Given the description of an element on the screen output the (x, y) to click on. 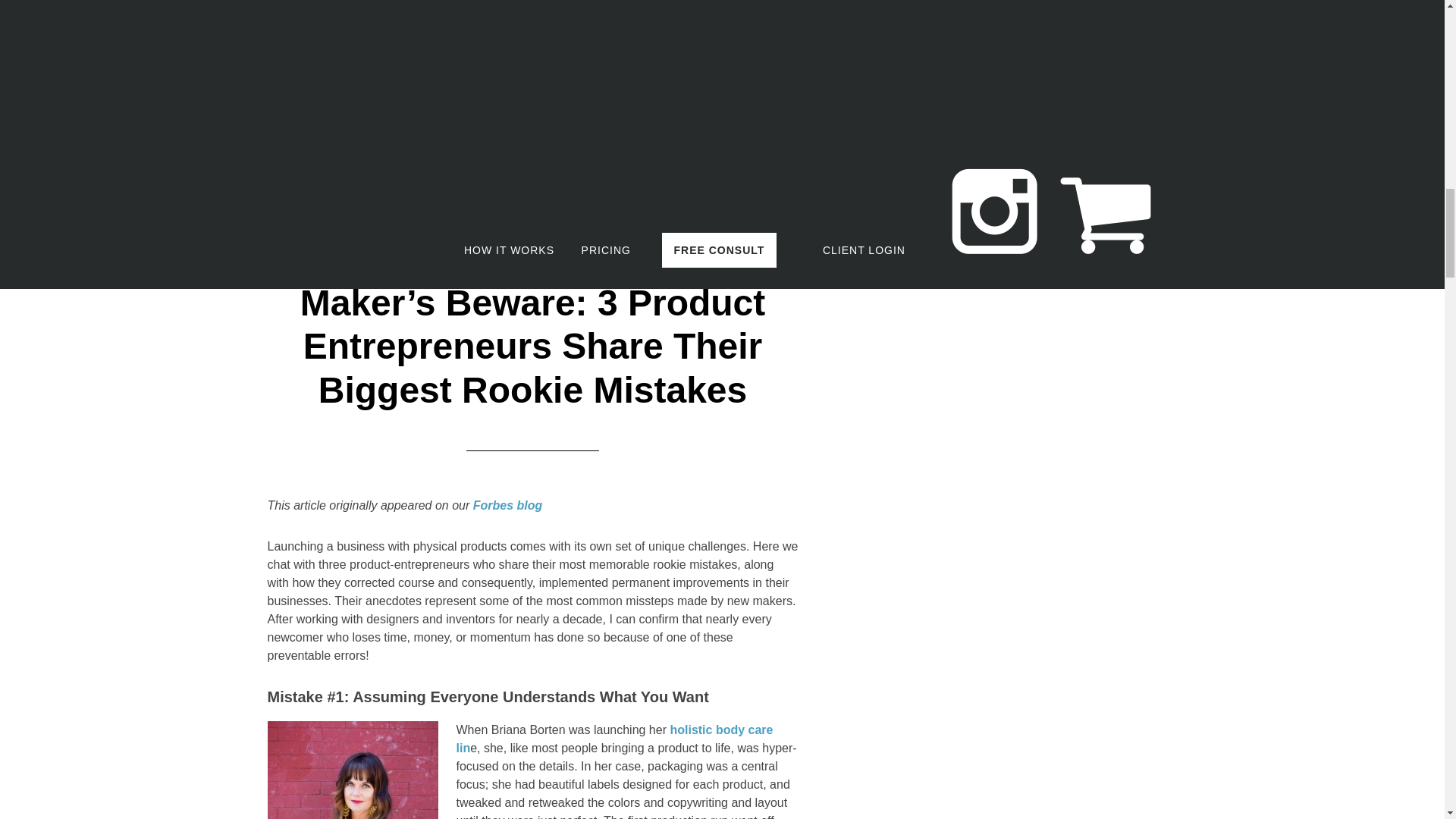
Entreprenuership (719, 116)
Product Design (567, 116)
holistic body care lin (615, 738)
Lifestyle (491, 116)
Forbes blog (508, 504)
admin (367, 116)
Mistakes (532, 134)
